Given the description of an element on the screen output the (x, y) to click on. 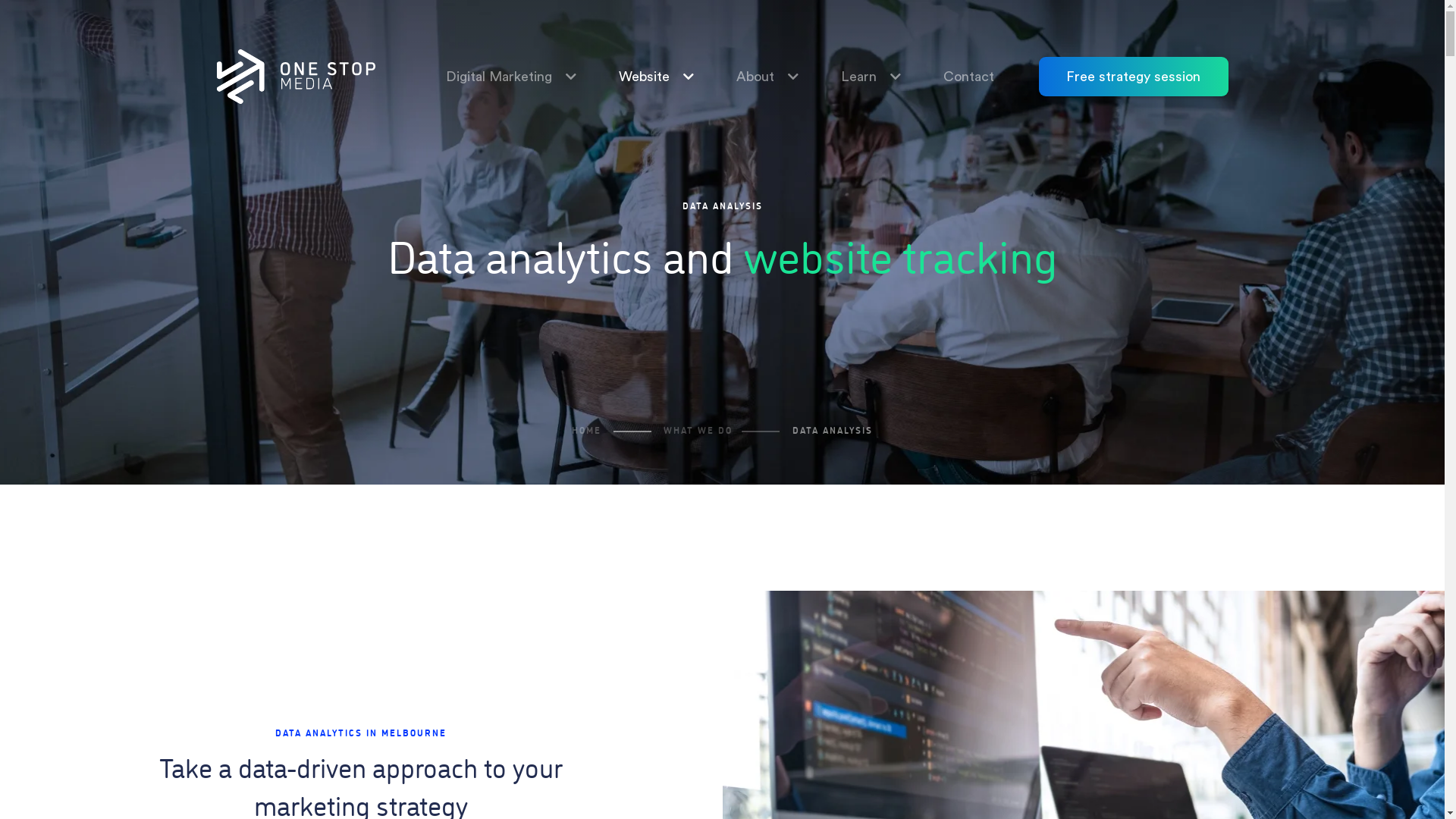
About Element type: text (754, 76)
Website Element type: text (643, 76)
Digital Marketing Element type: text (498, 76)
free strategy session Element type: text (1133, 76)
Learn Element type: text (857, 76)
HOME Element type: text (586, 429)
Contact Element type: text (968, 76)
WHAT WE DO Element type: text (697, 429)
